Given the description of an element on the screen output the (x, y) to click on. 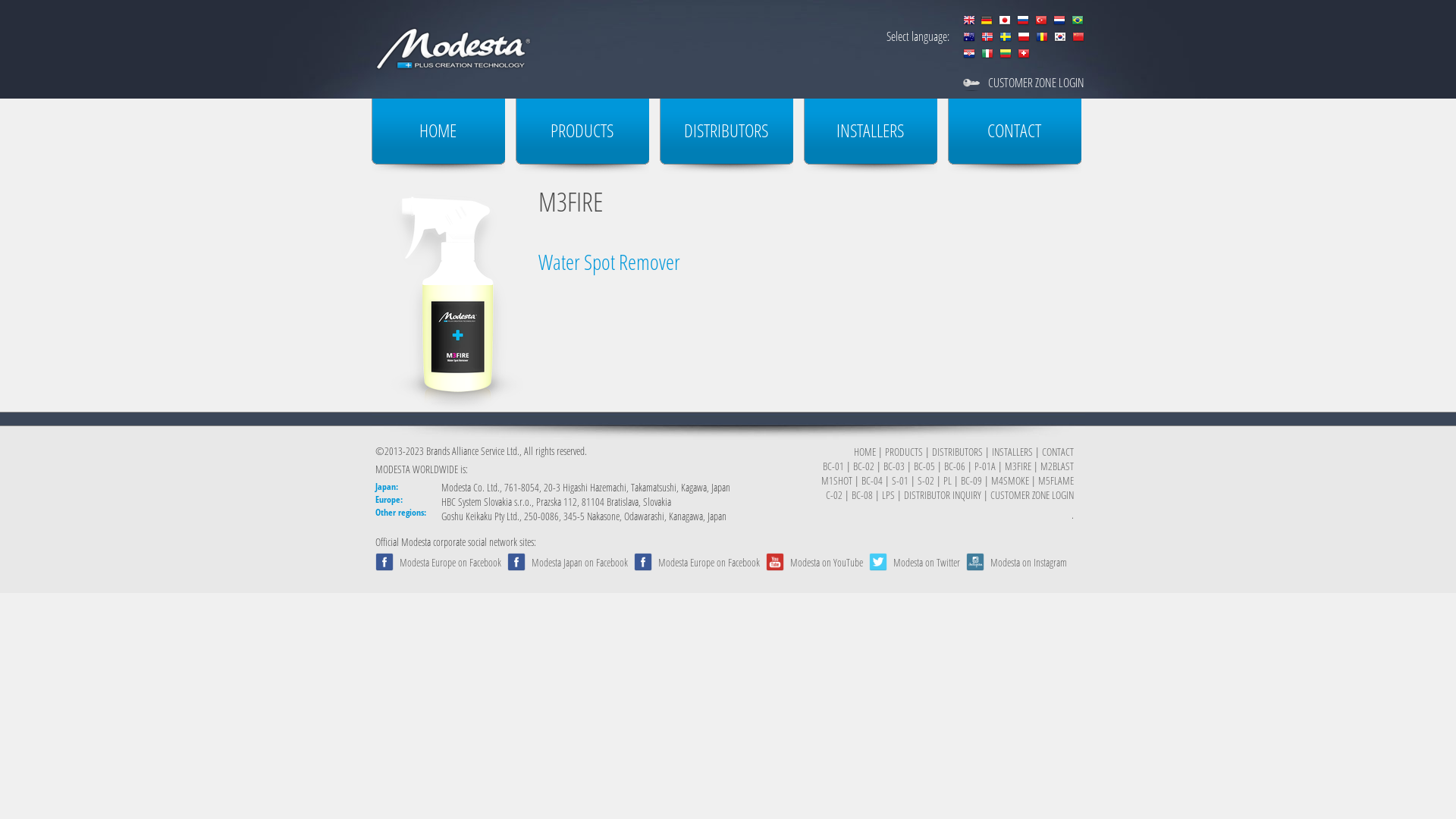
DISTRIBUTOR INQUIRY Element type: text (942, 494)
DISTRIBUTORS Element type: text (726, 135)
P-01A Element type: text (984, 465)
M3FIRE Element type: text (1017, 465)
BC-09 Element type: text (971, 480)
Modesta on Instagram Element type: text (1028, 562)
BC-02 Element type: text (863, 465)
BC-03 Element type: text (893, 465)
CONTACT Element type: text (1014, 135)
PL Element type: text (947, 480)
Modesta on YouTube Element type: text (826, 562)
BC-04 Element type: text (871, 480)
INSTALLERS Element type: text (870, 135)
BC-06 Element type: text (954, 465)
C-02 Element type: text (833, 494)
INSTALLERS Element type: text (1011, 451)
BC-01 Element type: text (833, 465)
Modesta Japan on Facebook Element type: text (579, 562)
CONTACT Element type: text (1057, 451)
M1SHOT Element type: text (836, 480)
HOME Element type: text (864, 451)
M5FLAME Element type: text (1055, 480)
BC-08 Element type: text (861, 494)
PRODUCTS Element type: text (903, 451)
DISTRIBUTORS Element type: text (956, 451)
Water Spot Remover Element type: text (609, 261)
Modesta on Twitter Element type: text (926, 562)
CUSTOMER ZONE LOGIN Element type: text (1031, 494)
M2BLAST Element type: text (1056, 465)
S-01 Element type: text (899, 480)
CUSTOMER ZONE LOGIN Element type: text (1036, 82)
PRODUCTS Element type: text (582, 135)
M4SMOKE Element type: text (1010, 480)
HOME Element type: text (438, 135)
LPS Element type: text (887, 494)
Modesta Europe on Facebook Element type: text (708, 562)
BC-05 Element type: text (924, 465)
Modesta Europe on Facebook Element type: text (450, 562)
S-02 Element type: text (925, 480)
